Given the description of an element on the screen output the (x, y) to click on. 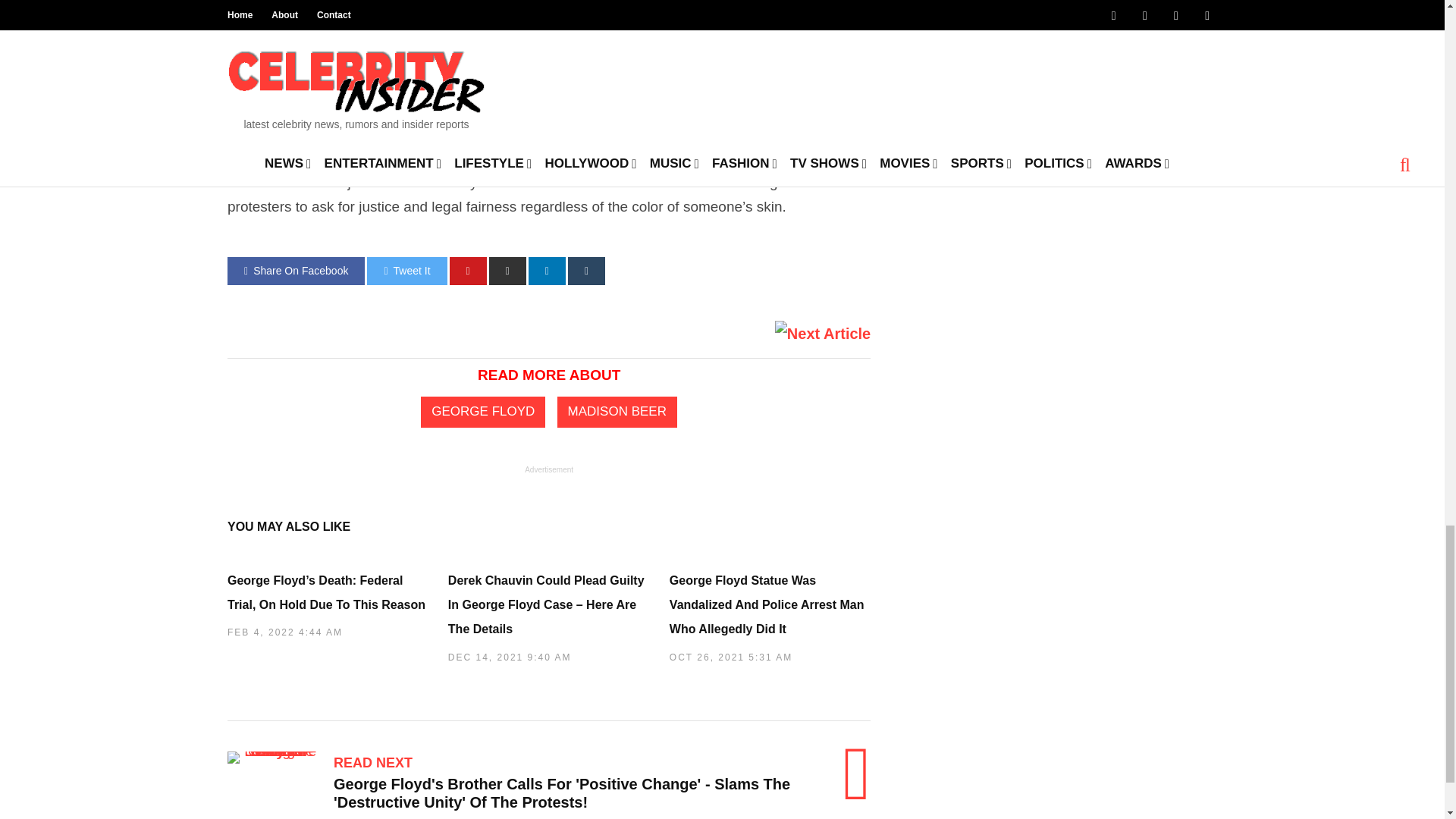
Share On Tumblr (586, 271)
Share On Reddit (507, 271)
Share On Twitter (406, 271)
Share On Facebook (296, 271)
Share On Linkedin (547, 271)
Share On Pinterest (467, 271)
